Given the description of an element on the screen output the (x, y) to click on. 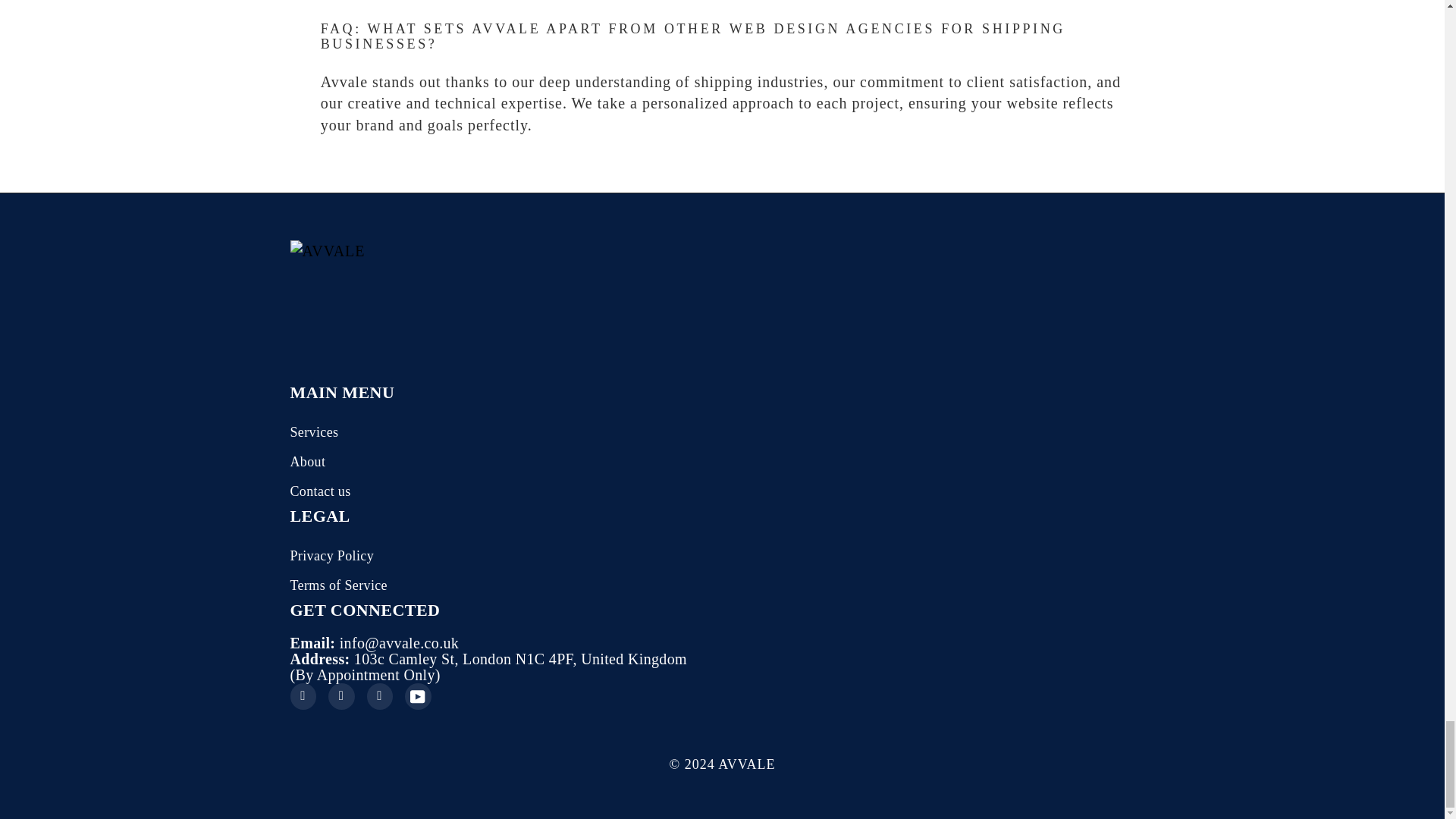
AVVALE on Instagram (342, 696)
AVVALE on LinkedIn (379, 696)
AVVALE on YouTube (417, 696)
